Given the description of an element on the screen output the (x, y) to click on. 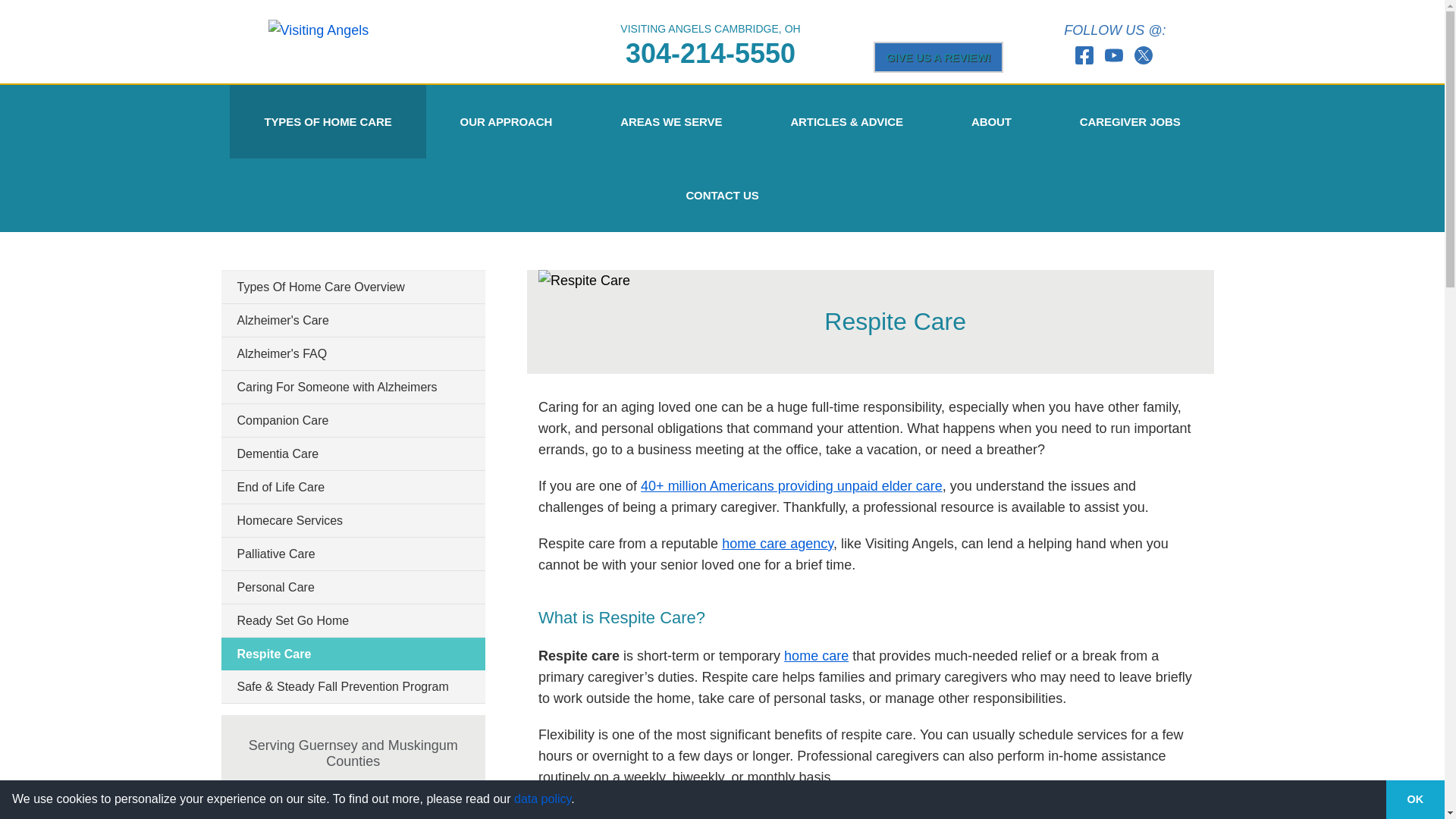
CONTACT US (721, 194)
304-214-5550 (710, 52)
data policy (541, 798)
AREAS WE SERVE (670, 121)
ABOUT (991, 121)
OUR APPROACH (506, 121)
GIVE US A REVIEW! (938, 56)
CAREGIVER JOBS (1129, 121)
TYPES OF HOME CARE (327, 121)
